Given the description of an element on the screen output the (x, y) to click on. 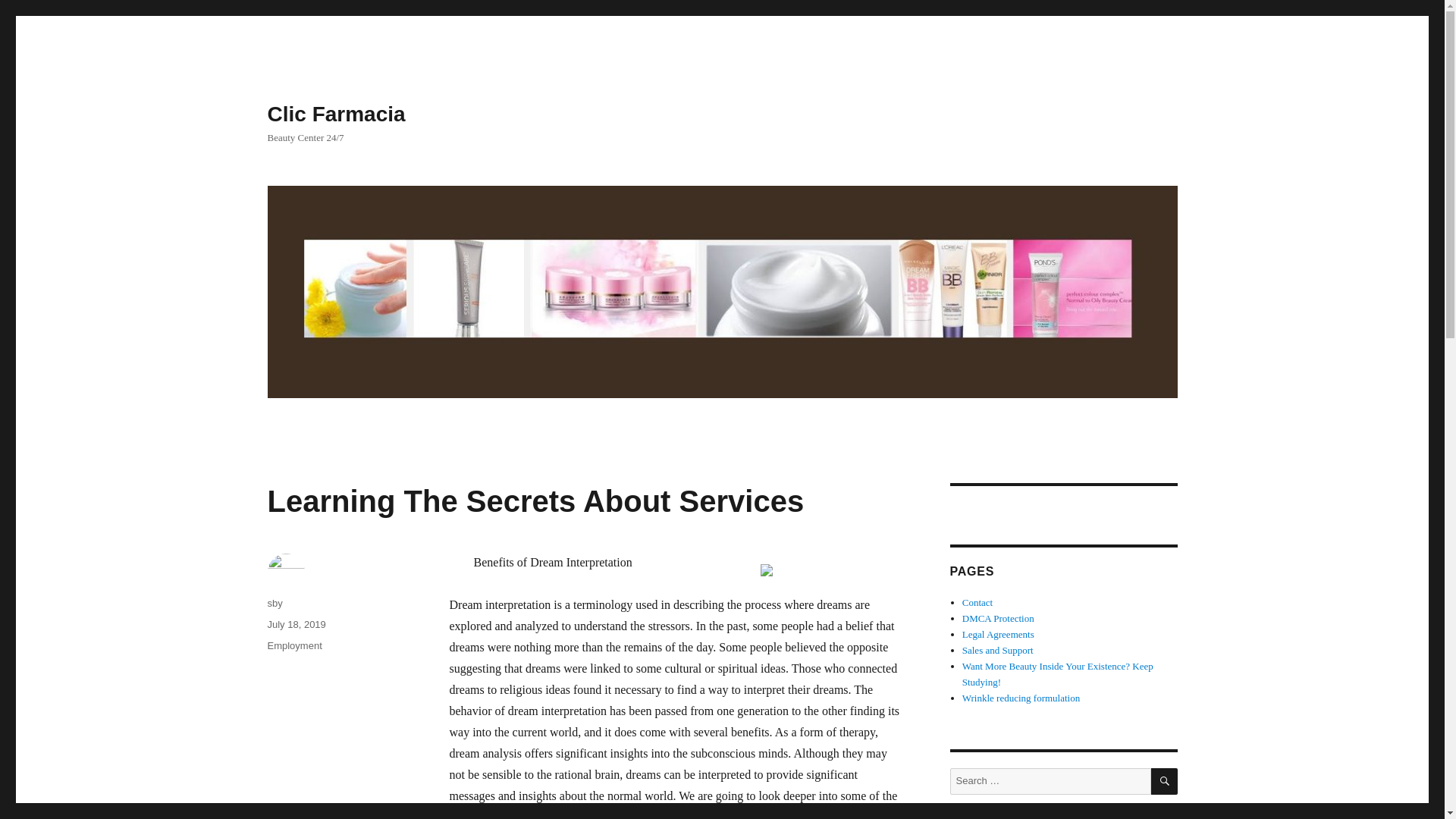
Clic Farmacia (335, 114)
Want More Beauty Inside Your Existence? Keep Studying! (1057, 673)
July 18, 2019 (295, 624)
sby (274, 603)
Sales and Support (997, 650)
SEARCH (1164, 781)
DMCA Protection (997, 618)
Wrinkle reducing formulation (1021, 697)
Employment (293, 645)
Legal Agreements (997, 633)
Contact (977, 602)
